Given the description of an element on the screen output the (x, y) to click on. 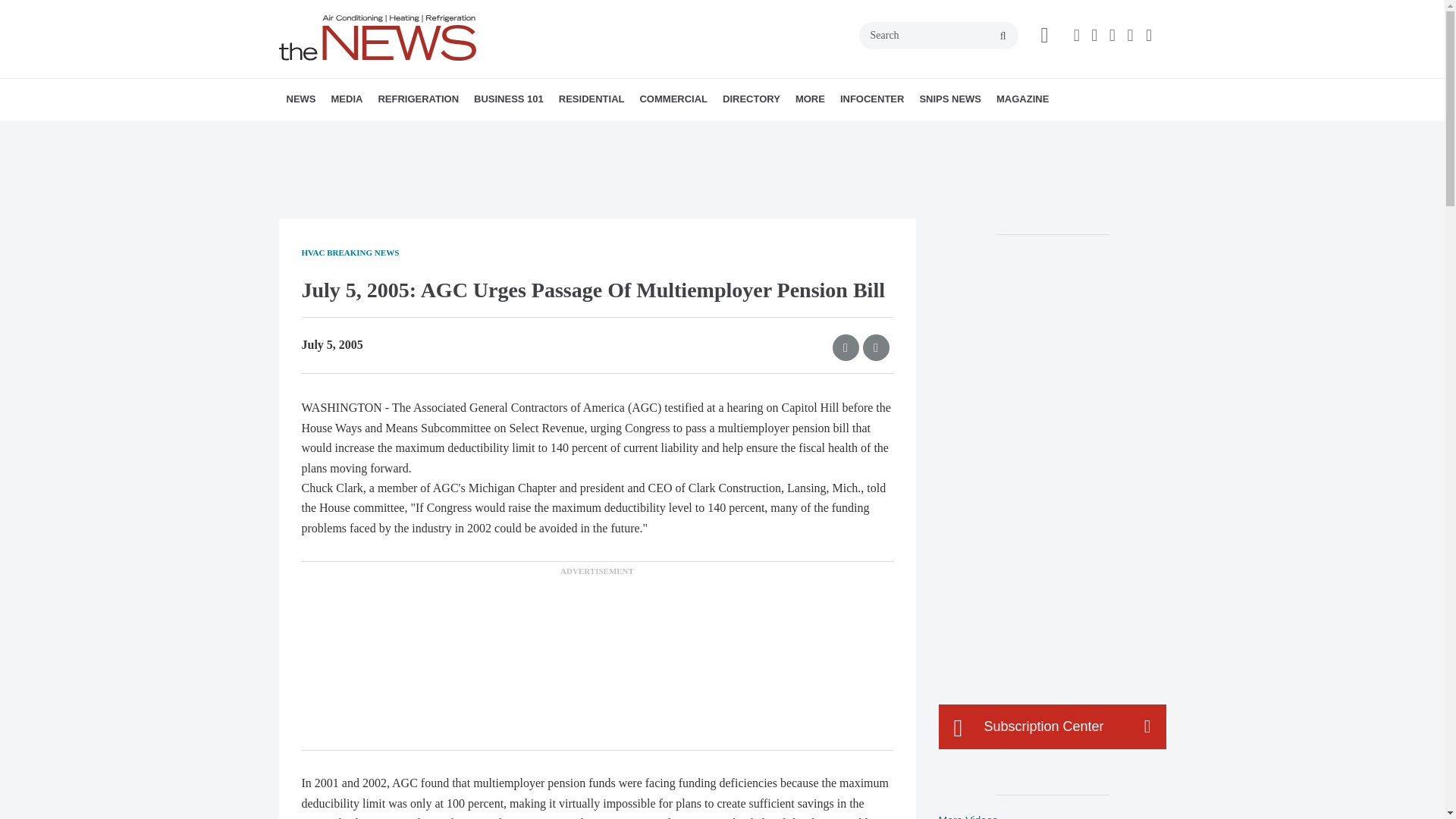
FROSTLINES (478, 132)
HVAC DATA (391, 132)
THE NEWS HVACR QUIZ (445, 132)
WEBINARS (436, 132)
BUSINESS 101 (508, 98)
AHR EXPO 2024 VIDEOS (424, 132)
REFRIGERANT REGULATIONS (472, 132)
REFRIGERATION (417, 98)
DUCTWORD PUZZLE (449, 132)
ONLINE POLL (452, 132)
